Given the description of an element on the screen output the (x, y) to click on. 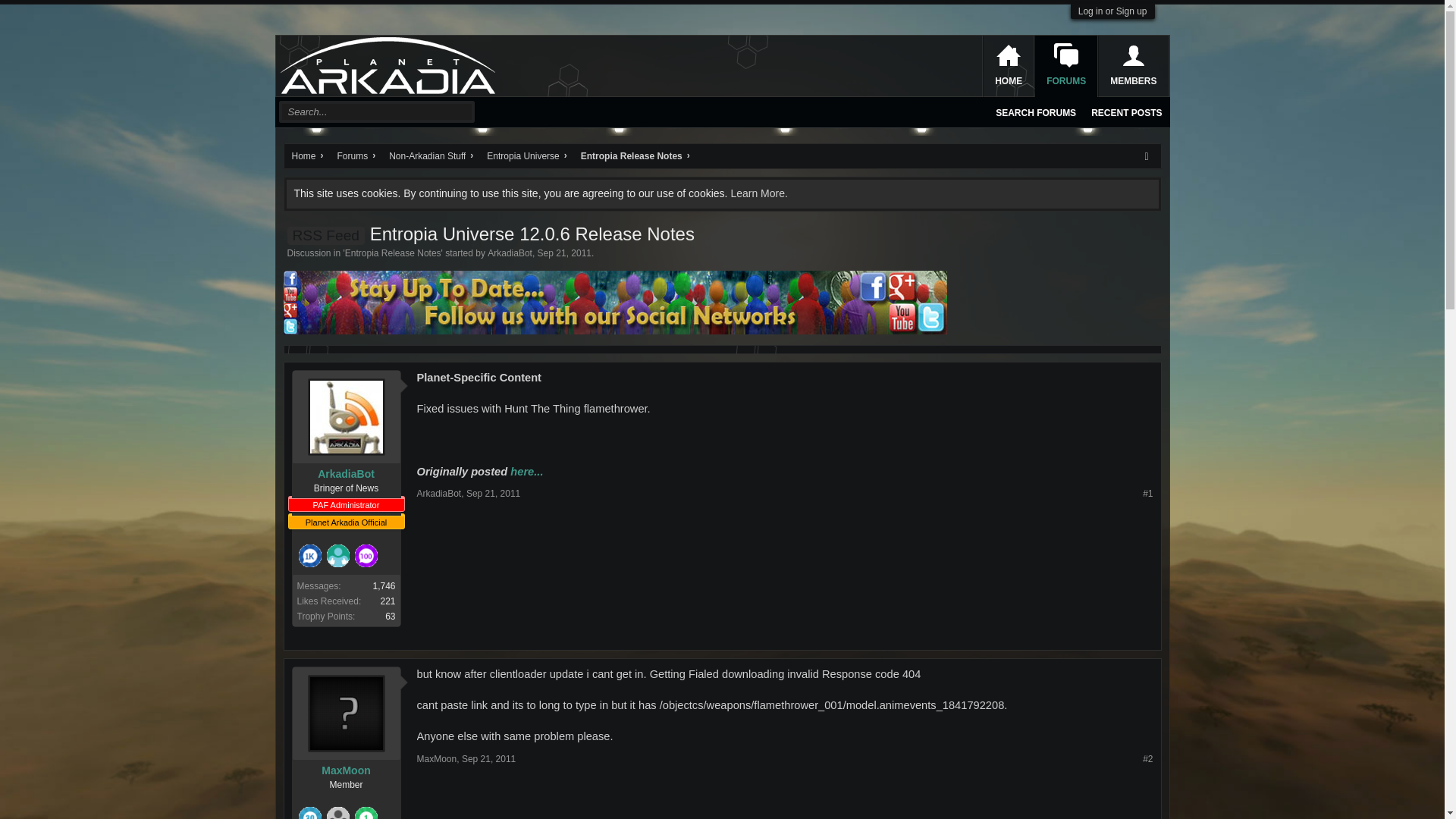
MaxMoon (346, 770)
Permalink (492, 493)
here... (526, 471)
Permalink (1147, 758)
Learn More. (758, 193)
Sep 21, 2011 (492, 493)
Sep 21, 2011 (488, 758)
ArkadiaBot (346, 473)
Permalink (488, 758)
1,746 (383, 585)
Log in or Sign up (1112, 10)
Entropia Release Notes (393, 253)
63 (389, 615)
ArkadiaBot (438, 493)
